Given the description of an element on the screen output the (x, y) to click on. 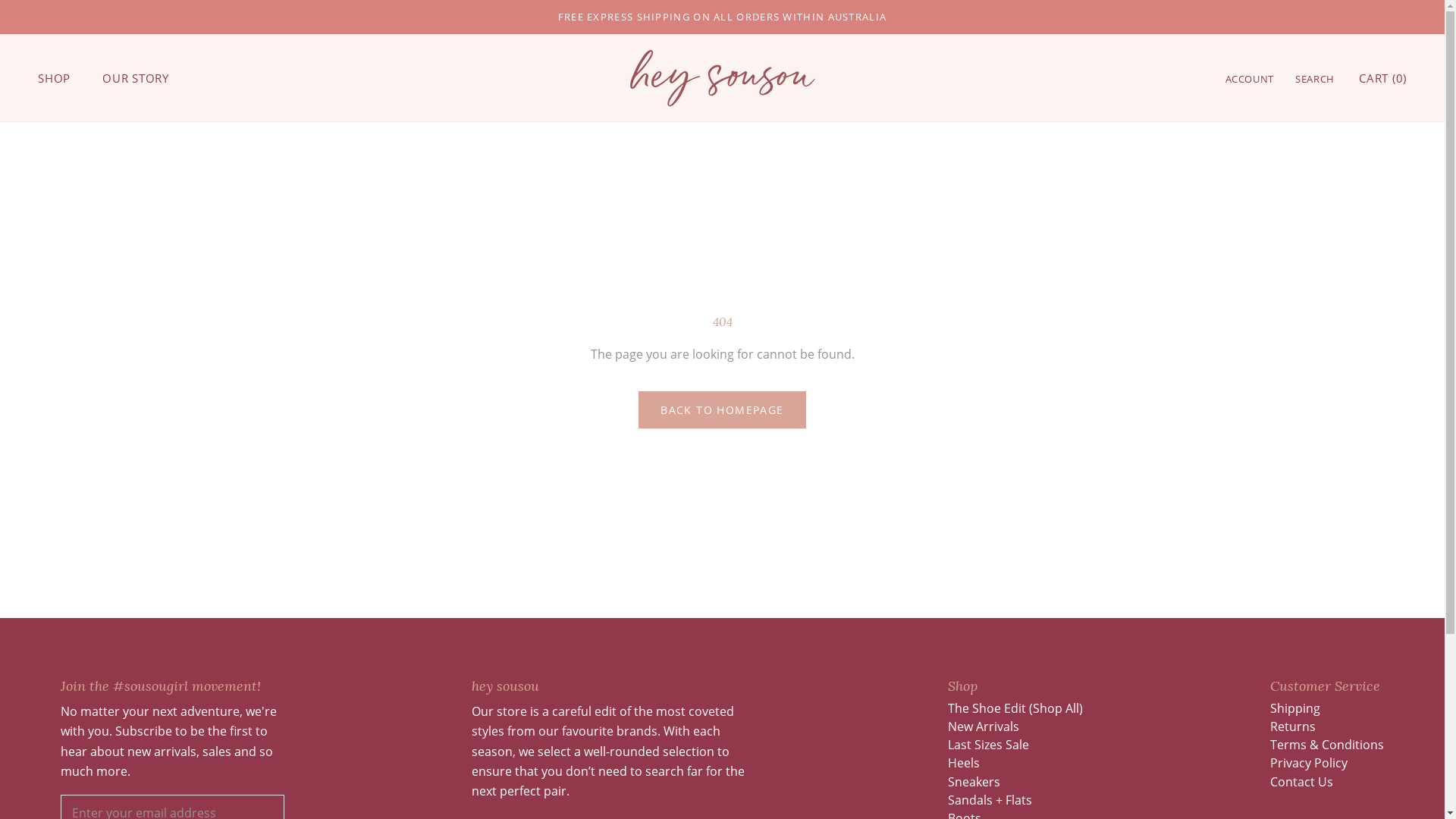
CART (0) Element type: text (1382, 77)
OUR STORY
OUR STORY Element type: text (135, 77)
Shipping Element type: text (1326, 708)
Heels Element type: text (1014, 763)
The Shoe Edit (Shop All) Element type: text (1014, 708)
Returns Element type: text (1326, 726)
ACCOUNT Element type: text (1249, 79)
BACK TO HOMEPAGE Element type: text (721, 409)
SHOP Element type: text (53, 77)
Sneakers Element type: text (1014, 782)
Sandals + Flats Element type: text (1014, 800)
Terms & Conditions Element type: text (1326, 744)
Privacy Policy Element type: text (1326, 763)
Last Sizes Sale Element type: text (1014, 744)
SEARCH Element type: text (1314, 79)
Contact Us Element type: text (1326, 782)
New Arrivals Element type: text (1014, 726)
